Given the description of an element on the screen output the (x, y) to click on. 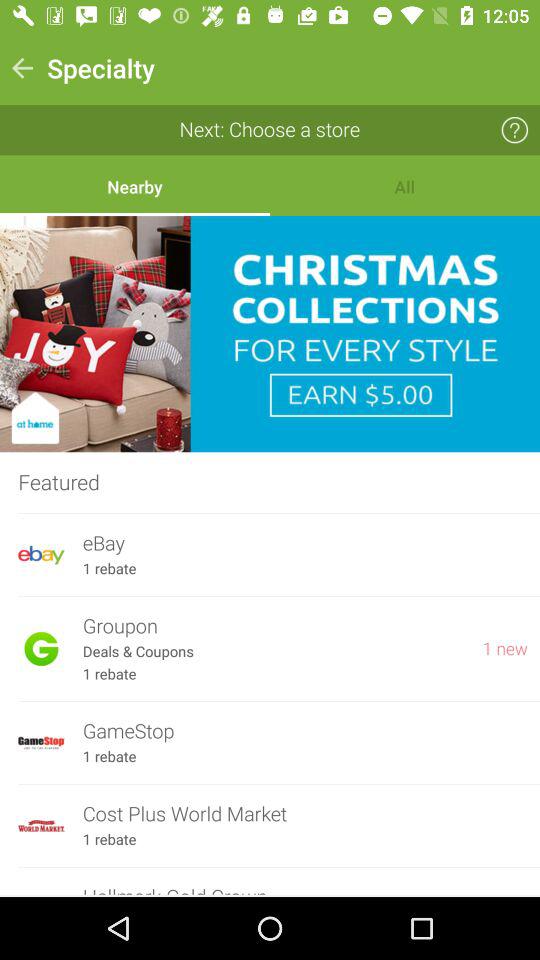
go to the logo left to gamestop (40, 743)
click on all which is next to nearby (405, 185)
click on icon which is next to next choose a store (515, 130)
click the button on the top left corner of the web page (22, 68)
